Given the description of an element on the screen output the (x, y) to click on. 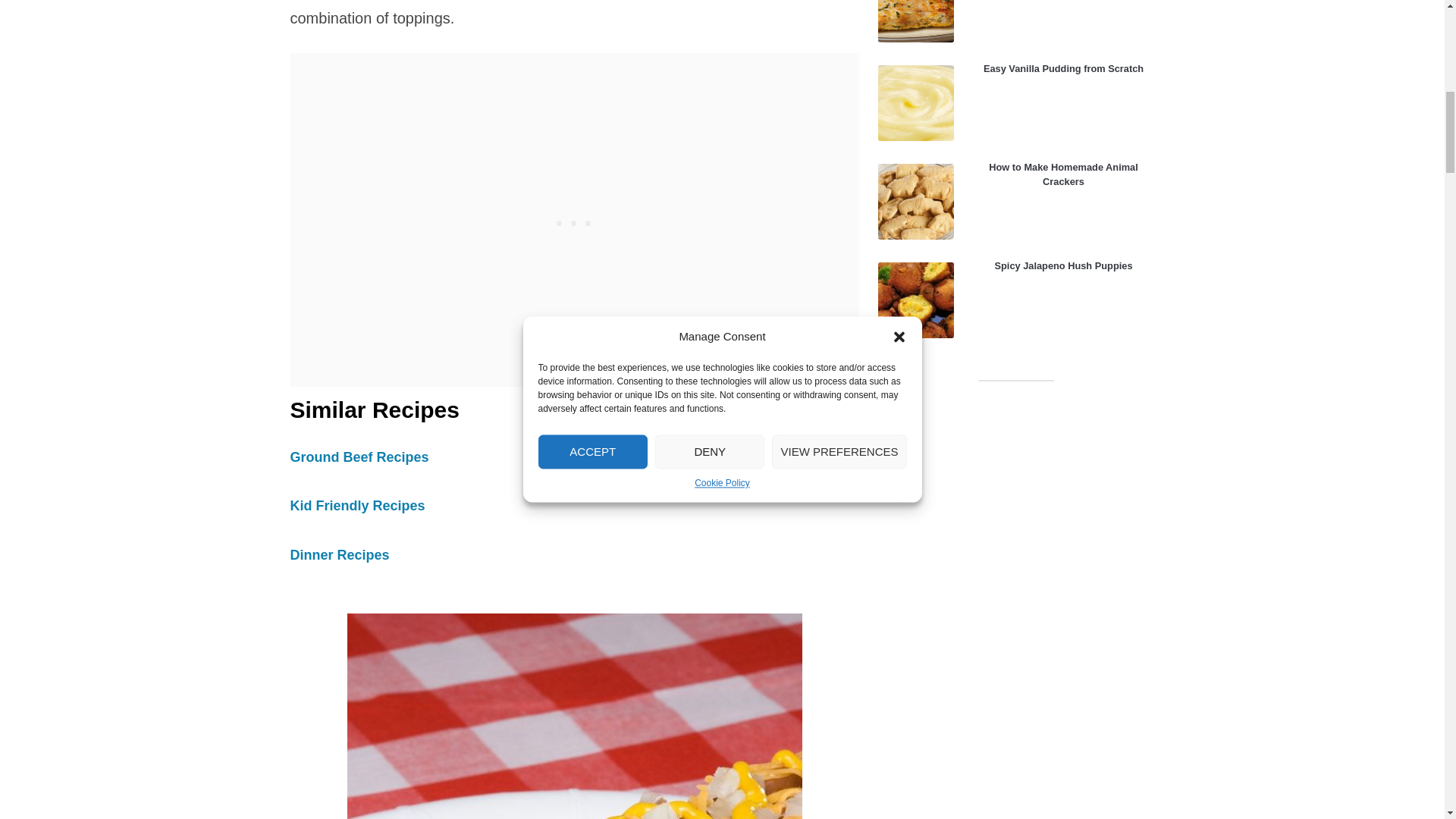
Easy Vanilla Pudding from Scratch (915, 102)
Baked Garlic Chicken (915, 21)
